Given the description of an element on the screen output the (x, y) to click on. 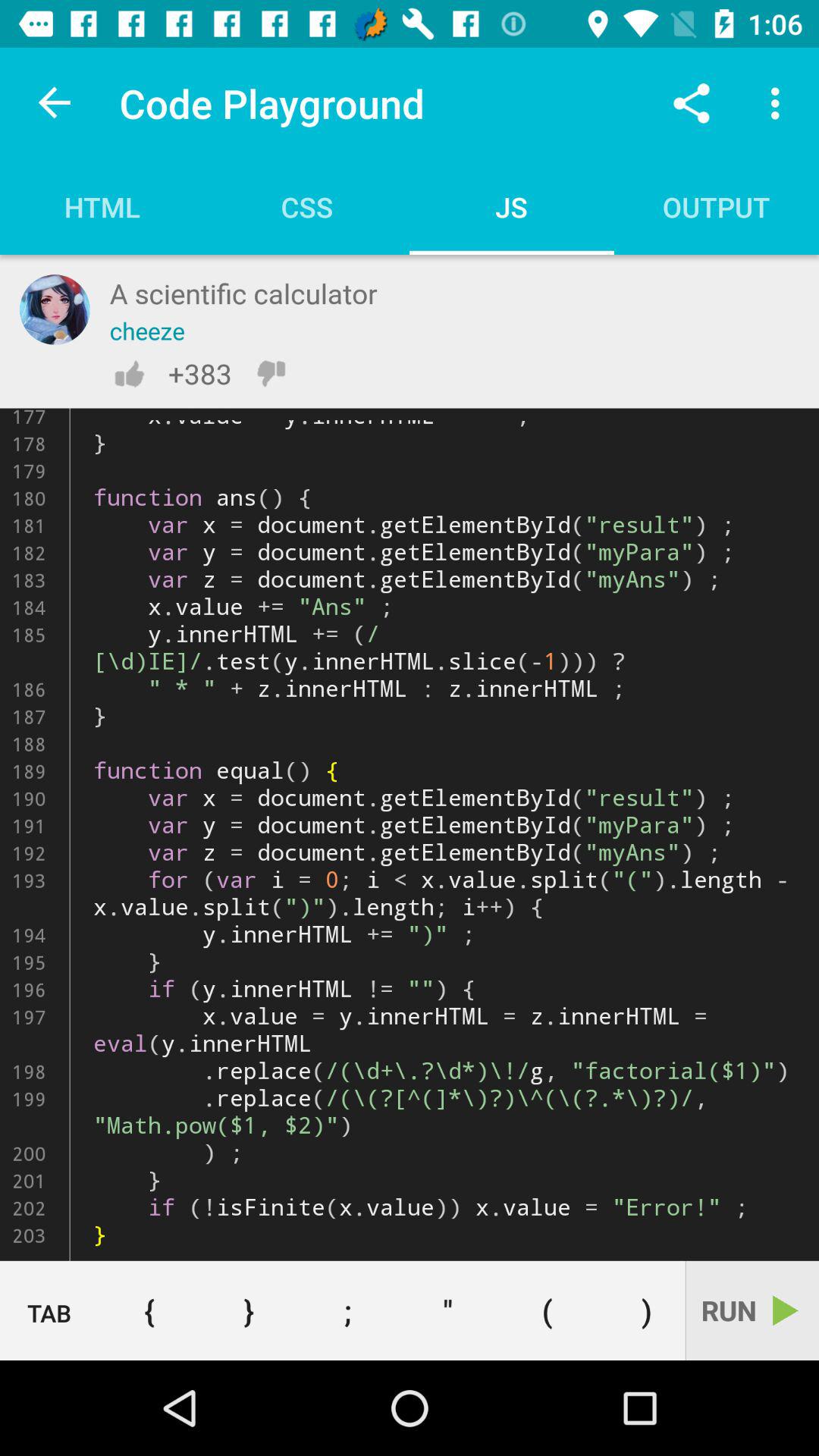
switch to dislike (270, 373)
